Given the description of an element on the screen output the (x, y) to click on. 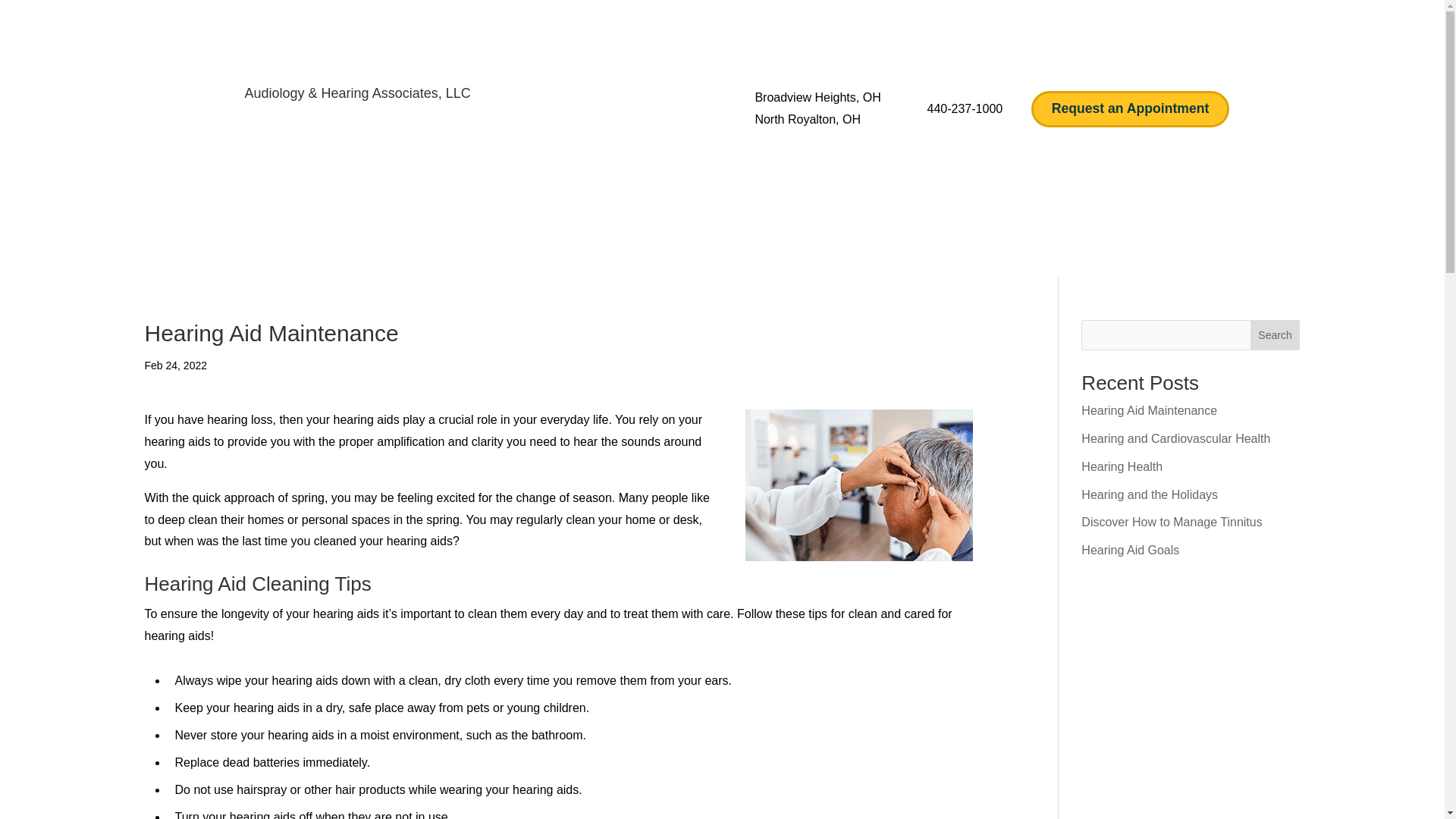
Request an Appointment (1130, 108)
Hearing Loss (811, 259)
Hearing and Cardiovascular Health (1175, 438)
Hearing and the Holidays (1149, 494)
Hearing Aid Goals (1130, 549)
About Us (518, 259)
Search (1275, 335)
Hearing Aids (702, 259)
Contact (974, 259)
Discover How to Manage Tinnitus (1171, 521)
